Given the description of an element on the screen output the (x, y) to click on. 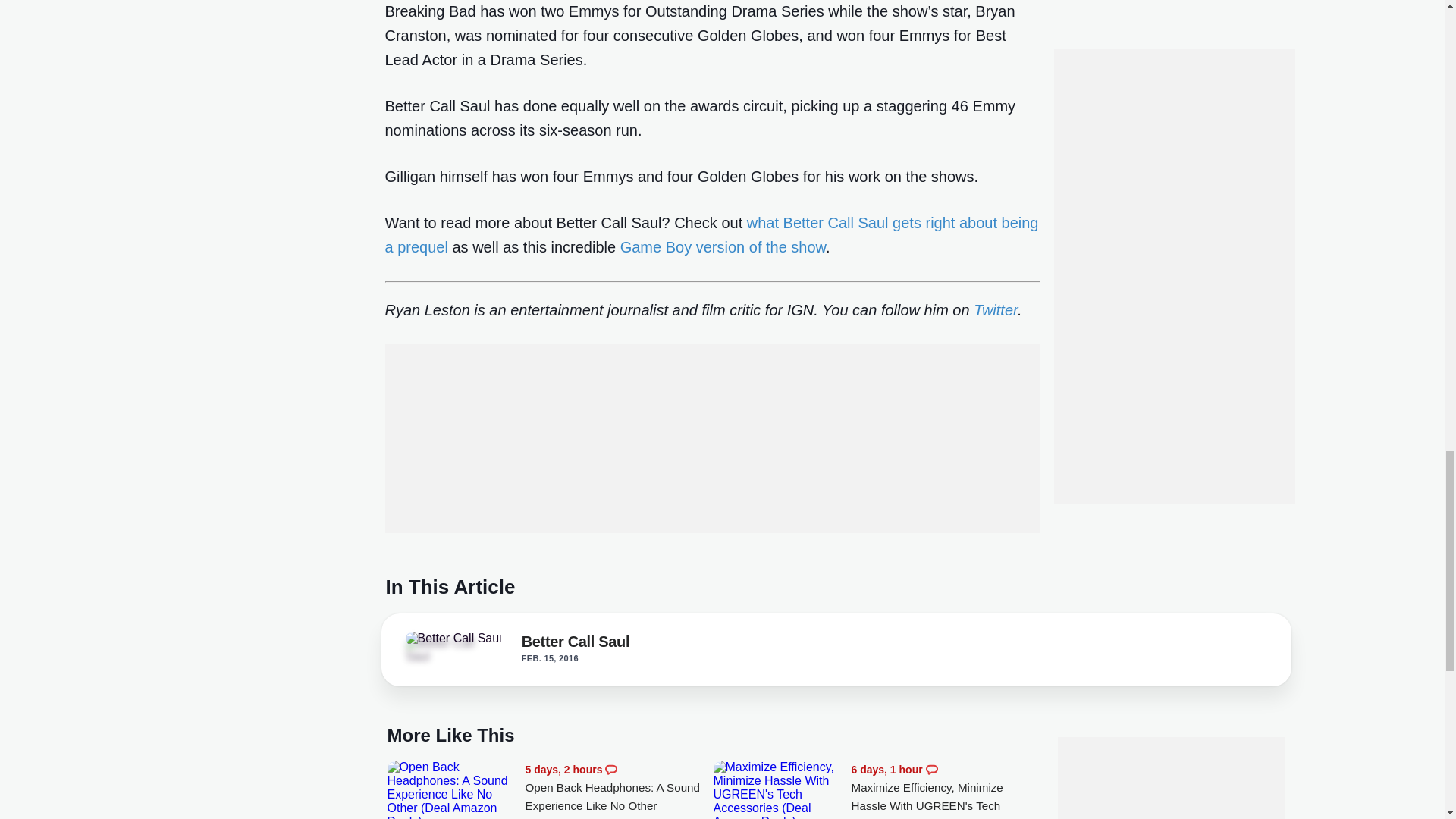
Open Back Headphones: A Sound Experience Like No Other (451, 789)
Comments (931, 769)
Open Back Headphones: A Sound Experience Like No Other (618, 787)
Better Call Saul (452, 638)
Comments (611, 769)
Better Call Saul (575, 644)
Better Call Saul (448, 649)
